Given the description of an element on the screen output the (x, y) to click on. 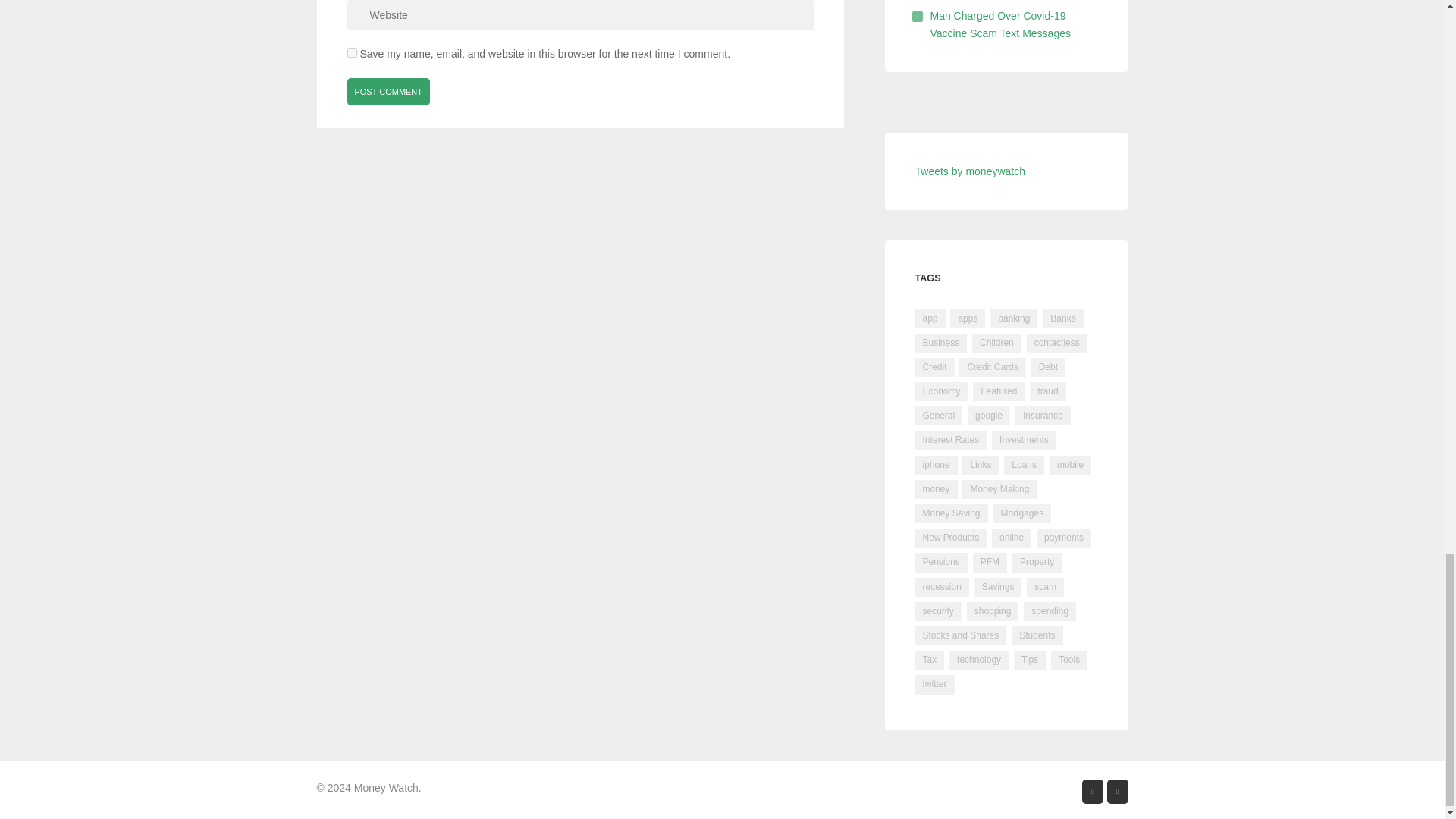
Post Comment (388, 91)
yes (351, 52)
Post Comment (388, 91)
